Given the description of an element on the screen output the (x, y) to click on. 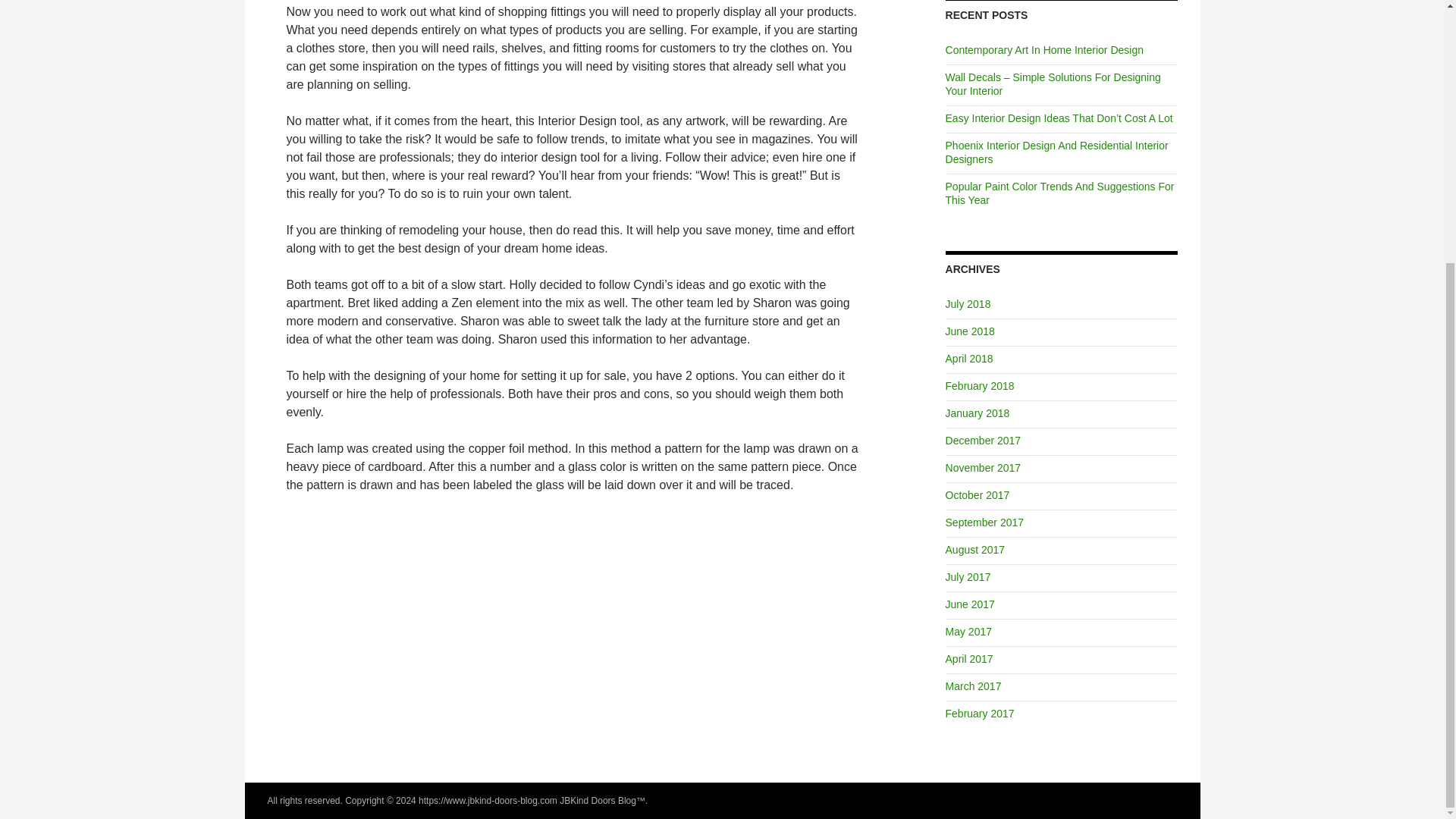
January 2018 (977, 413)
June 2017 (969, 604)
September 2017 (984, 522)
October 2017 (977, 494)
June 2018 (969, 331)
April 2018 (968, 358)
July 2018 (967, 304)
JBKind Doors Blog (597, 800)
May 2017 (967, 631)
November 2017 (983, 467)
